Given the description of an element on the screen output the (x, y) to click on. 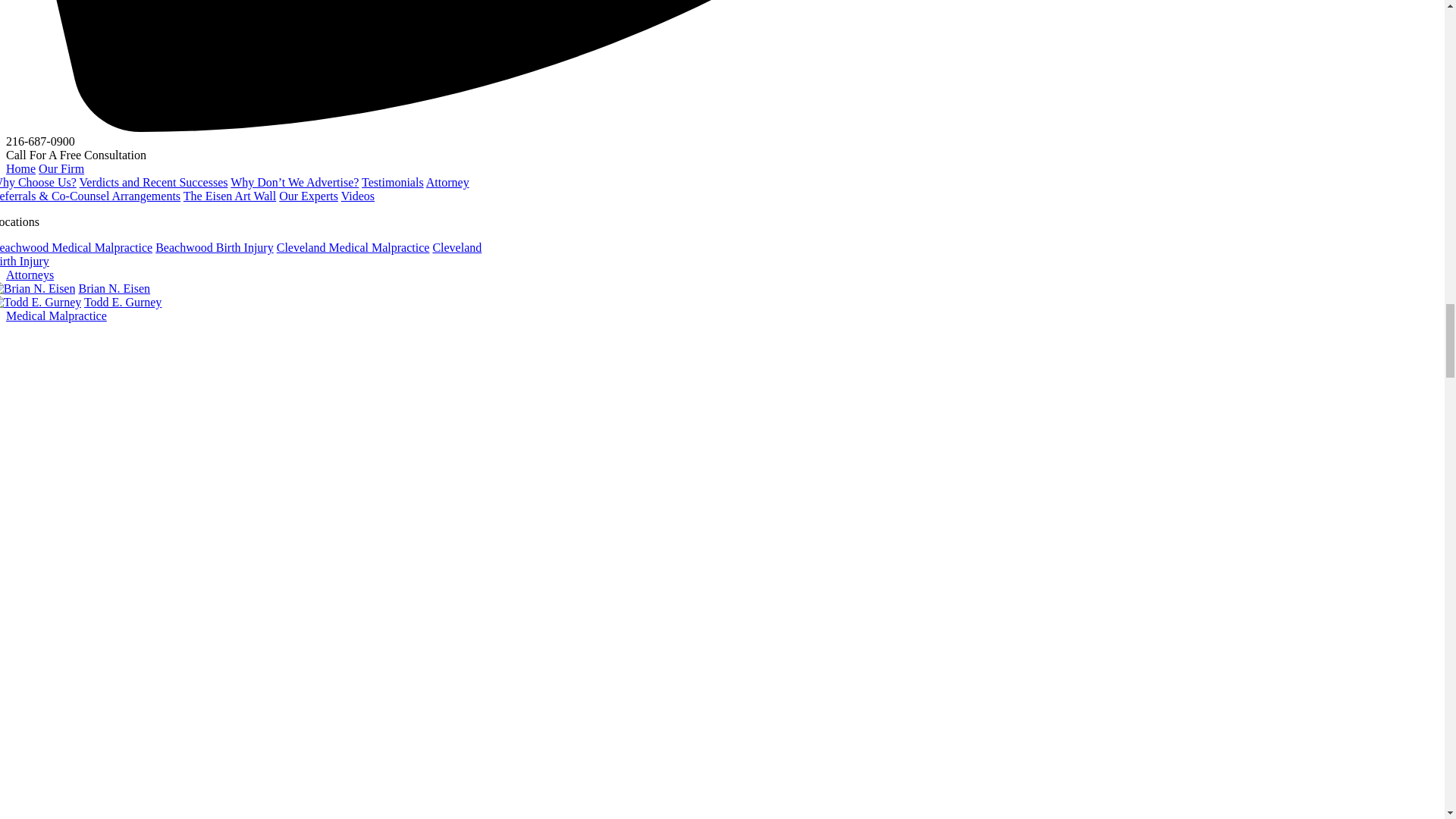
Cleveland Medical Malpractice (352, 246)
Testimonials (392, 182)
Why Choose Us? (38, 182)
Medical Malpractice (55, 315)
Cleveland Birth Injury (240, 253)
The Eisen Art Wall (229, 195)
Beachwood Medical Malpractice (76, 246)
Videos (357, 195)
Our Firm (61, 168)
Our Experts (308, 195)
